Given the description of an element on the screen output the (x, y) to click on. 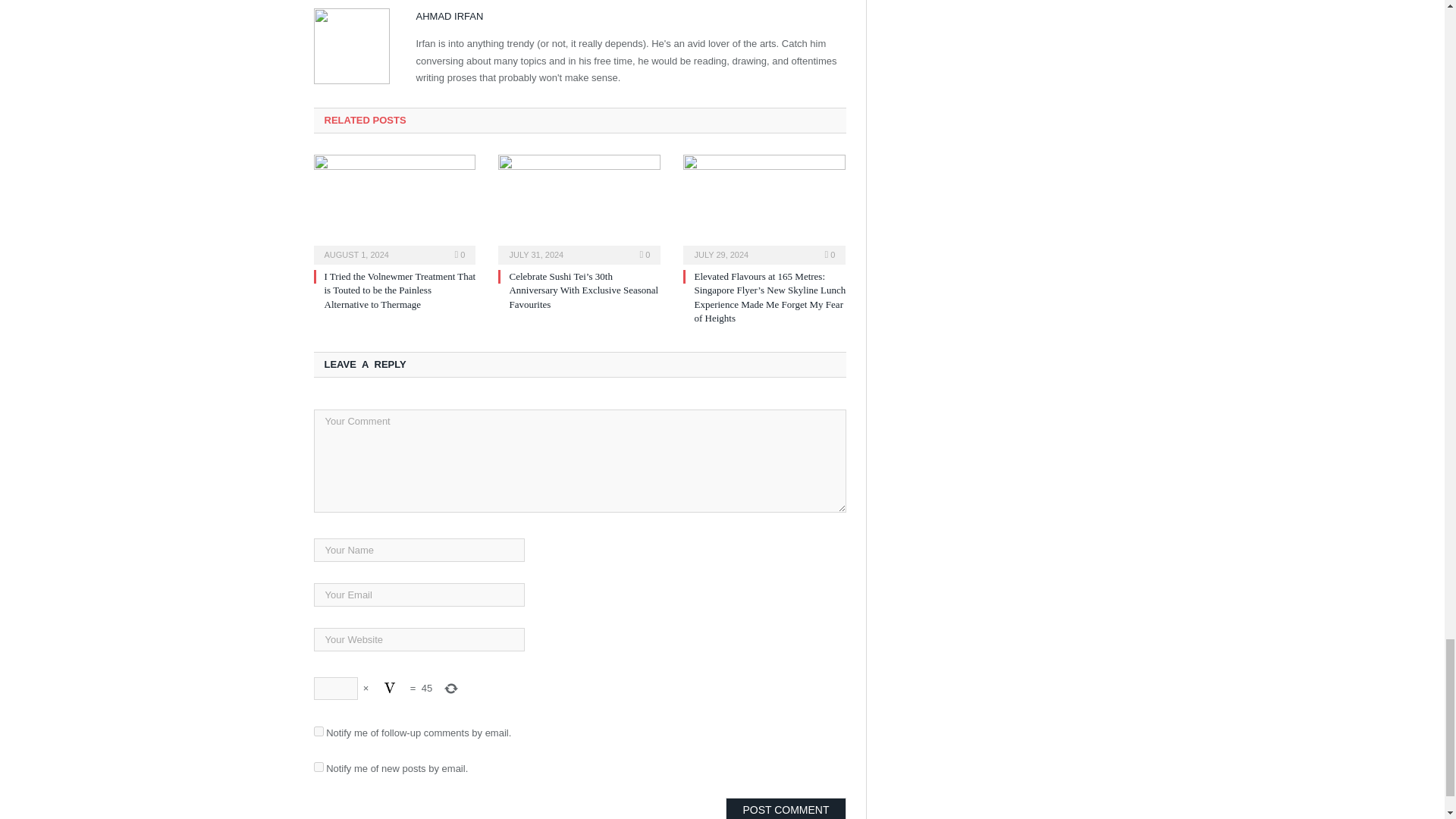
subscribe (318, 767)
subscribe (318, 731)
Post Comment (785, 808)
